Given the description of an element on the screen output the (x, y) to click on. 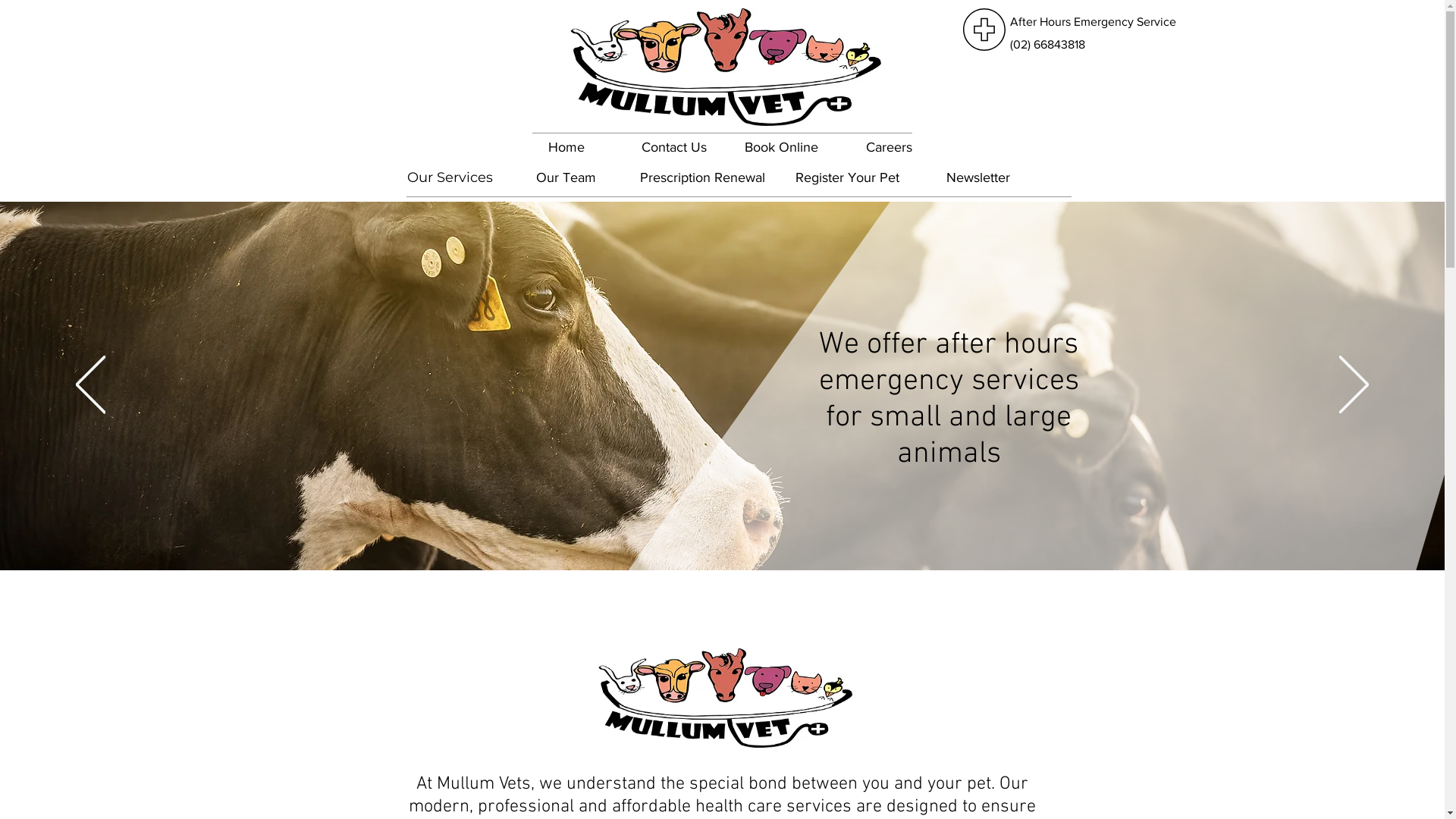
Home Element type: text (566, 147)
Contact Us Element type: text (674, 147)
Prescription Renewal Element type: text (702, 178)
Book Online Element type: text (781, 147)
Our Services Element type: text (449, 178)
Register Your Pet Element type: text (846, 178)
Our Team Element type: text (566, 178)
Newsletter Element type: text (977, 178)
Careers Element type: text (889, 147)
